Given the description of an element on the screen output the (x, y) to click on. 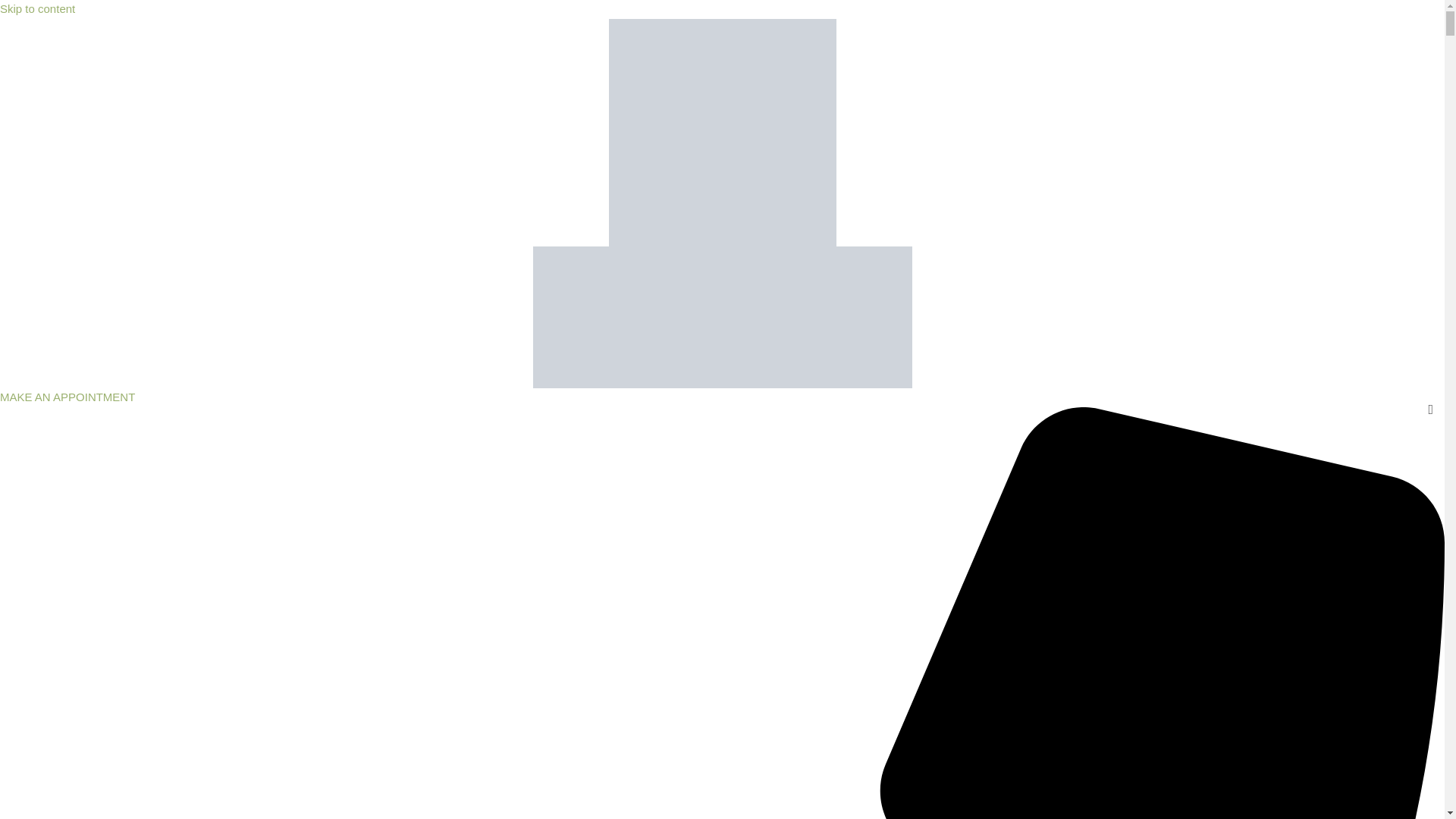
MAKE AN APPOINTMENT (67, 396)
Skip to content (37, 8)
Skip to content (37, 8)
MAKE AN APPOINTMENT (67, 396)
